Given the description of an element on the screen output the (x, y) to click on. 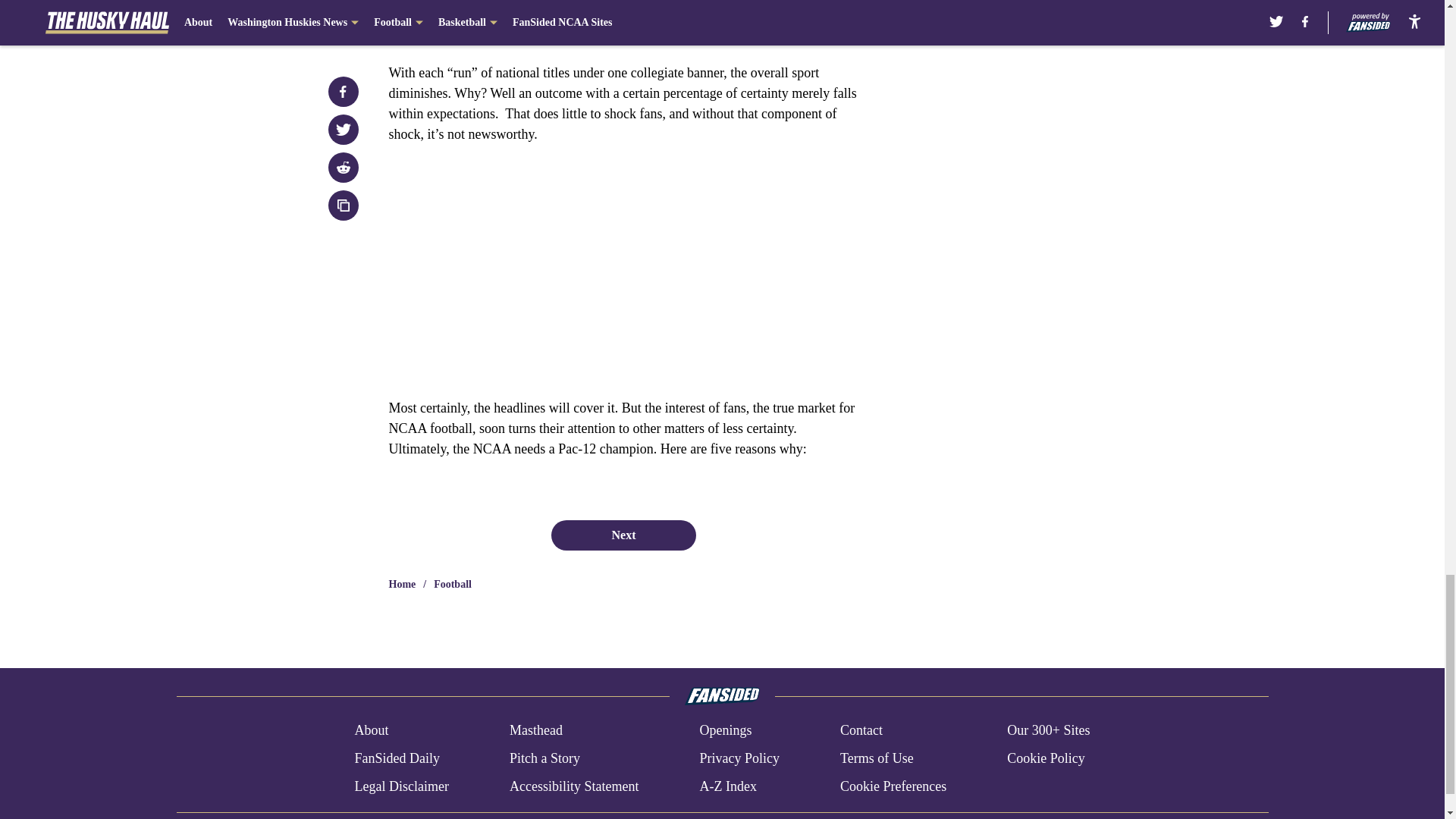
Openings (724, 730)
Privacy Policy (738, 758)
Home (401, 584)
Contact (861, 730)
Pitch a Story (544, 758)
Masthead (535, 730)
About (370, 730)
FanSided Daily (396, 758)
Next (622, 535)
Football (452, 584)
